Given the description of an element on the screen output the (x, y) to click on. 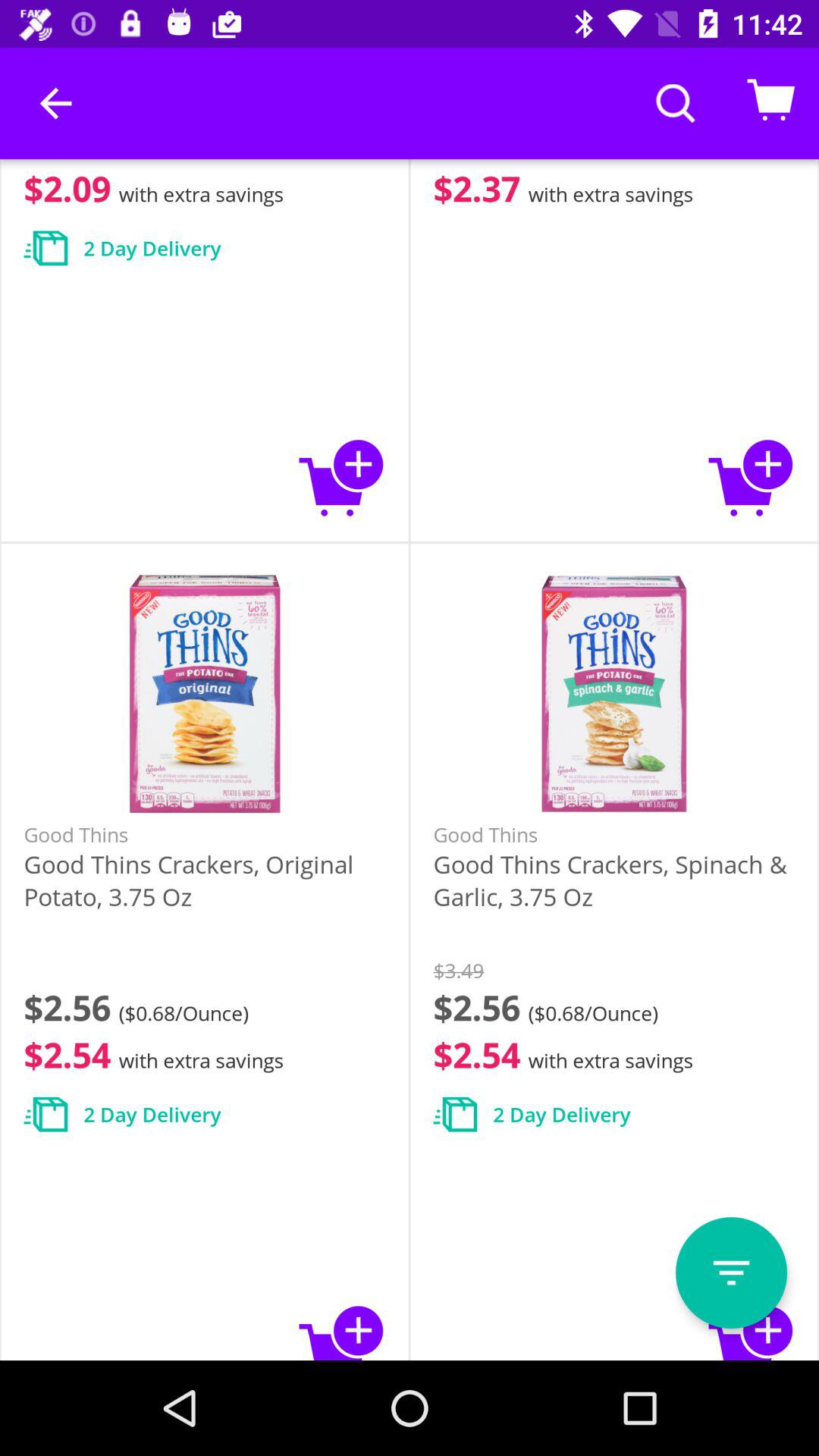
adds good thins to cart (342, 1330)
